Given the description of an element on the screen output the (x, y) to click on. 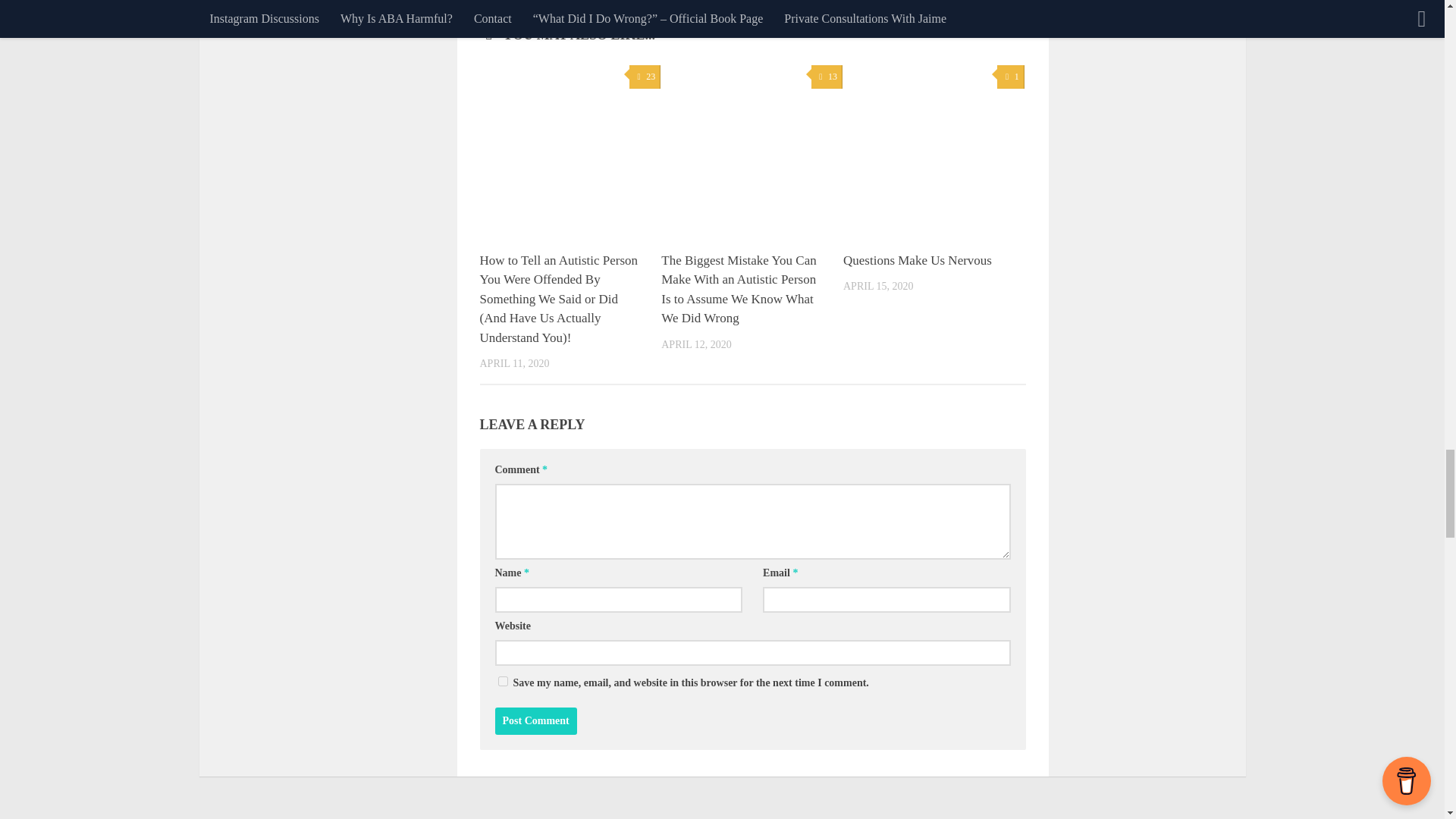
yes (501, 681)
Post Comment (535, 720)
